Given the description of an element on the screen output the (x, y) to click on. 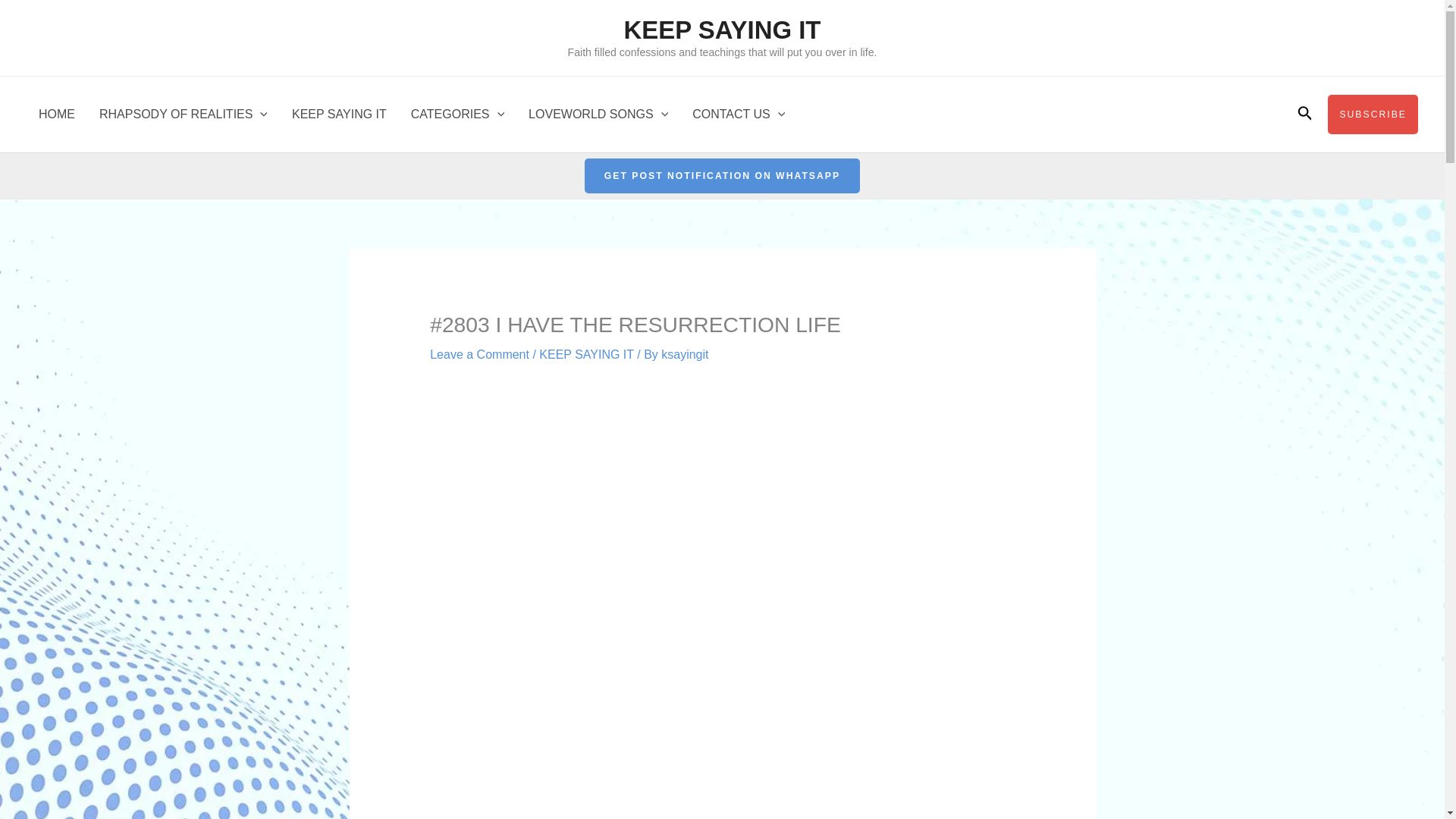
RHAPSODY OF REALITIES (183, 114)
CONTACT US (737, 114)
SUBSCRIBE (1372, 115)
ksayingit (684, 354)
Leave a Comment (479, 354)
View all posts by ksayingit (684, 354)
KEEP SAYING IT (722, 29)
KEEP SAYING IT (585, 354)
CATEGORIES (457, 114)
LOVEWORLD SONGS (597, 114)
